Given the description of an element on the screen output the (x, y) to click on. 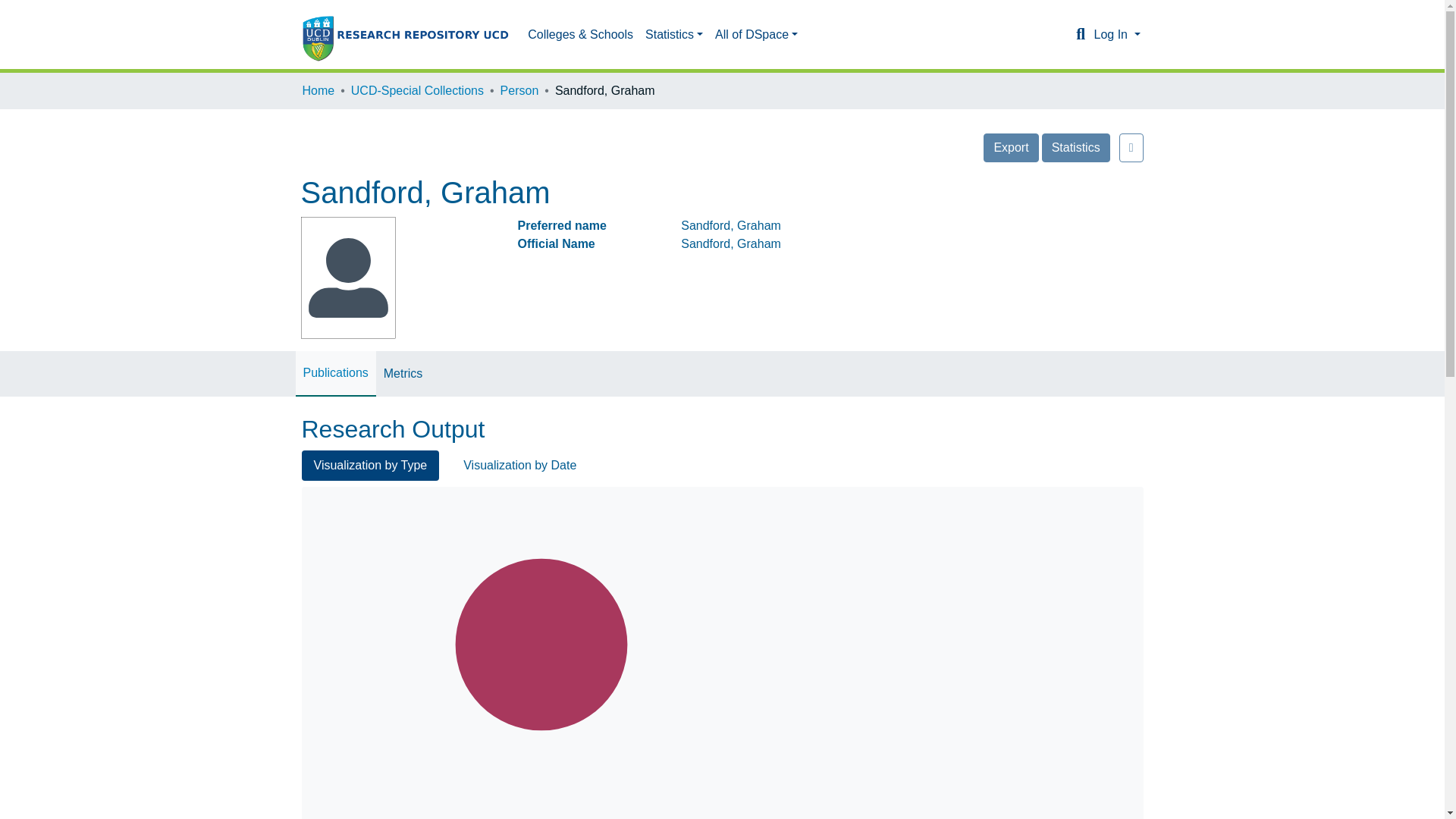
Publications (335, 372)
Metrics (402, 373)
All of DSpace (756, 34)
Metrics (402, 373)
Log In (1116, 33)
Home (317, 90)
Export (1011, 147)
Search (1080, 34)
UCD-Special Collections (416, 90)
Statistics (1075, 147)
Statistics (674, 34)
Visualization by Date (519, 465)
Person (519, 90)
Visualization by Type (370, 465)
Publications (335, 372)
